Given the description of an element on the screen output the (x, y) to click on. 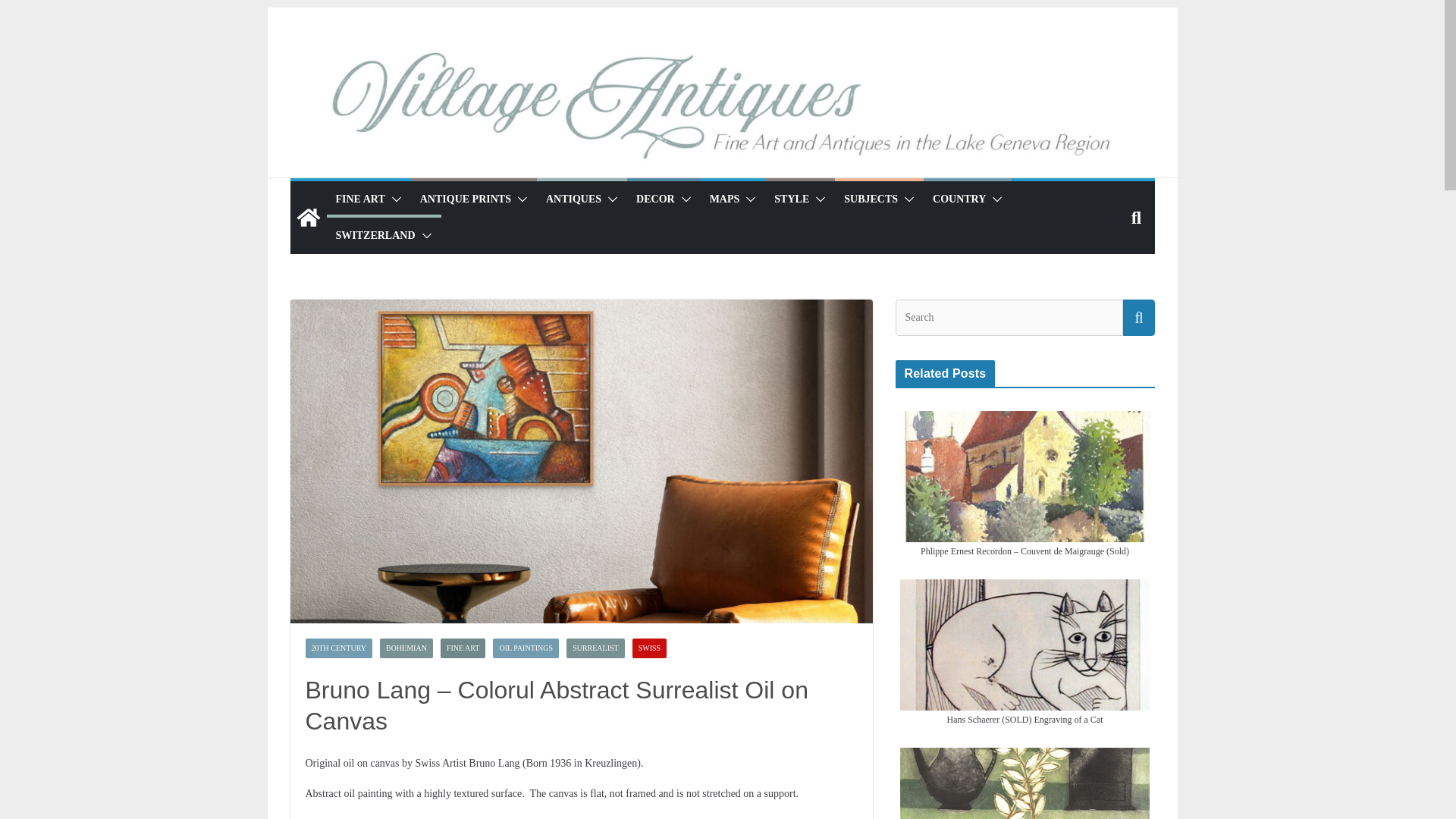
FINE ART (359, 199)
ANTIQUES (573, 199)
DECOR (655, 199)
Village Antiques (307, 217)
Village Antiques (721, 109)
ANTIQUE PRINTS (465, 199)
